Given the description of an element on the screen output the (x, y) to click on. 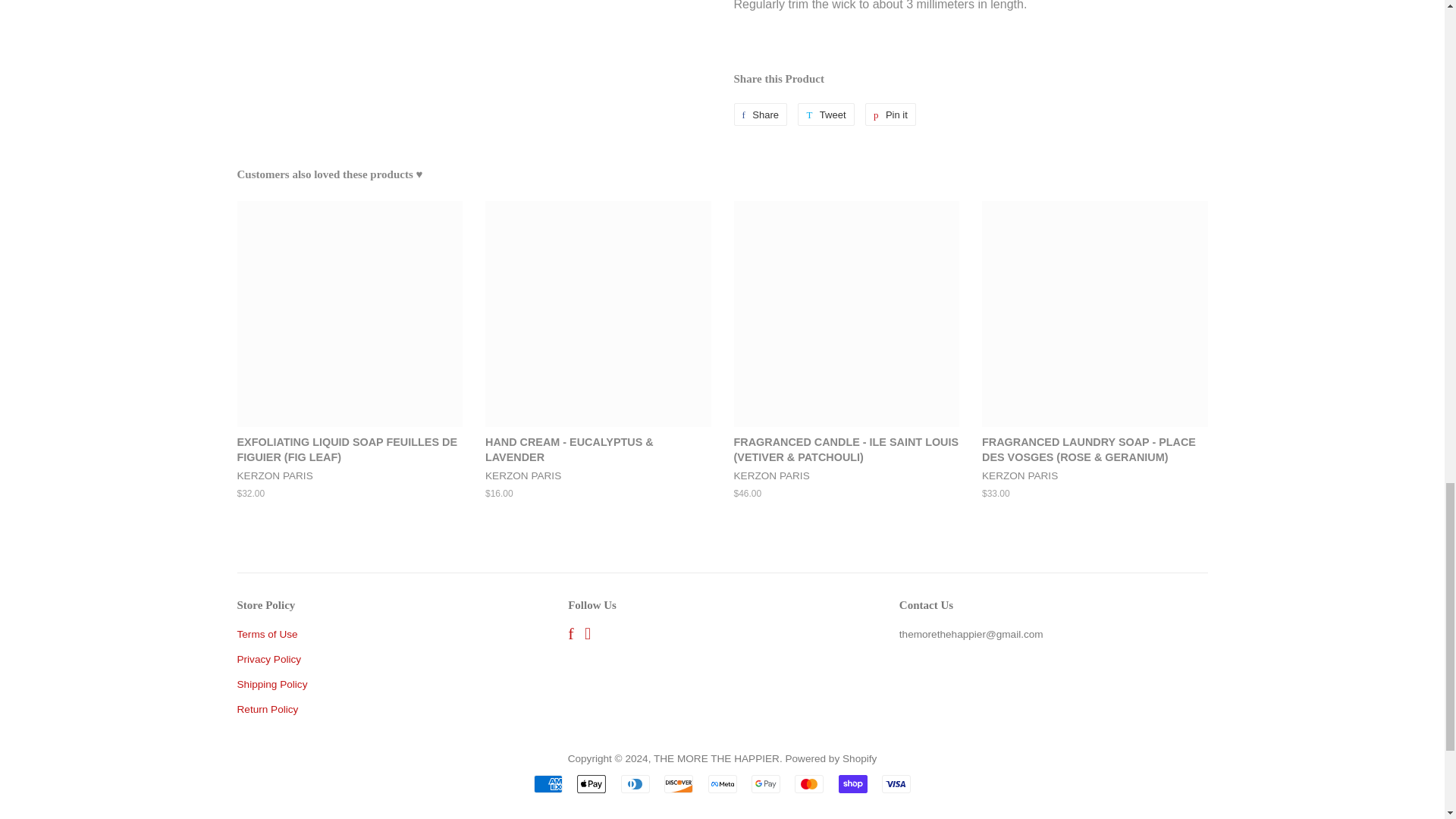
Return Policy (266, 708)
Pin on Pinterest (889, 114)
Google Pay (765, 783)
Discover (678, 783)
Privacy Policy (268, 659)
American Express (548, 783)
Shipping Info (271, 684)
Mastercard (809, 783)
Meta Pay (721, 783)
Diners Club (635, 783)
Terms of Service (266, 633)
Apple Pay (590, 783)
Visa (896, 783)
Shop Pay (852, 783)
Tweet on Twitter (825, 114)
